Given the description of an element on the screen output the (x, y) to click on. 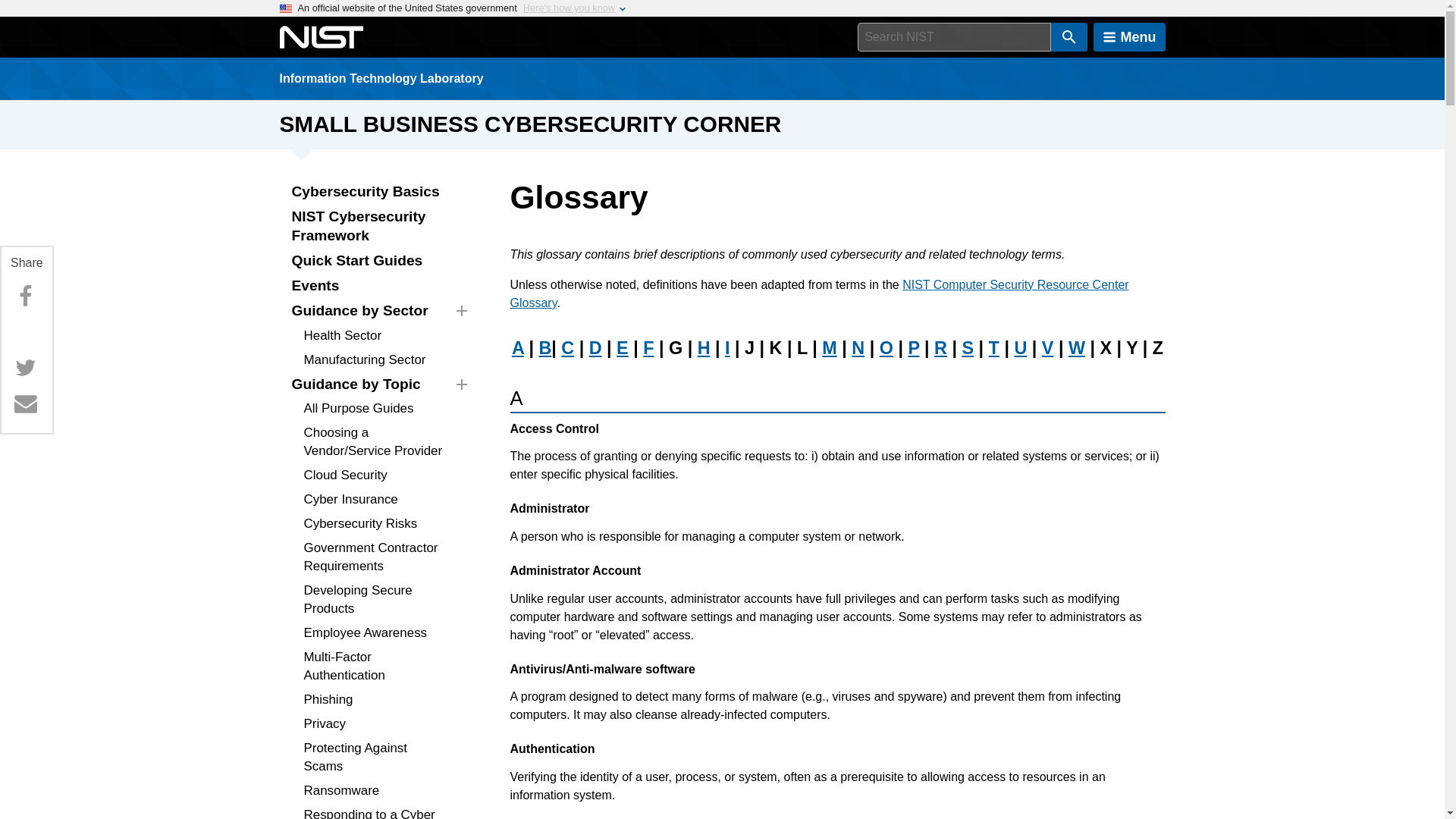
Twitter (25, 367)
National Institute of Standards and Technology (320, 36)
Linkedin (25, 331)
Email (25, 403)
Facebook (25, 296)
Menu (1129, 36)
